Given the description of an element on the screen output the (x, y) to click on. 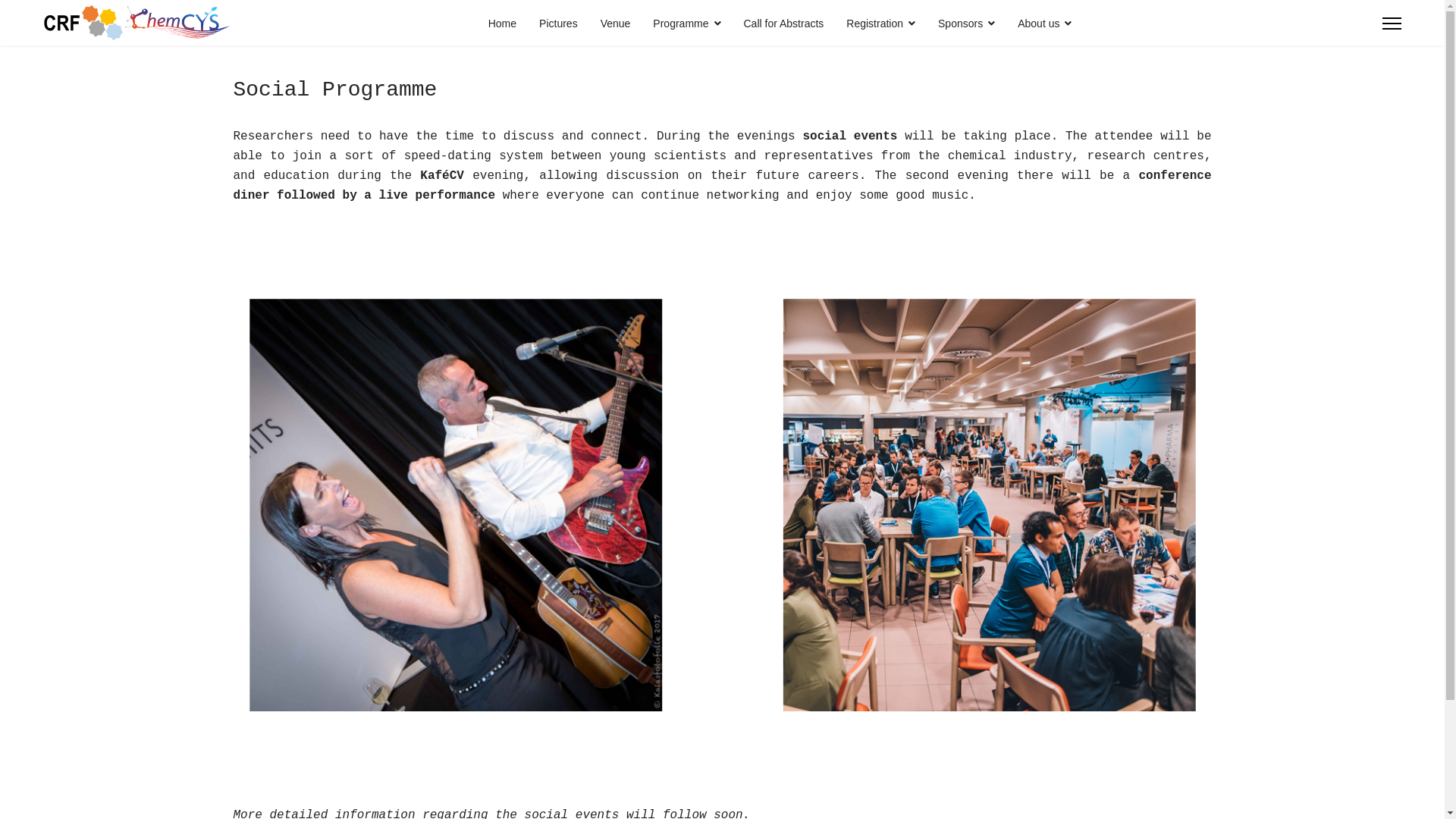
Call for Abstracts Element type: text (783, 23)
Menu Element type: hover (1391, 23)
Home Element type: text (501, 23)
Pictures Element type: text (558, 23)
Venue Element type: text (615, 23)
